Given the description of an element on the screen output the (x, y) to click on. 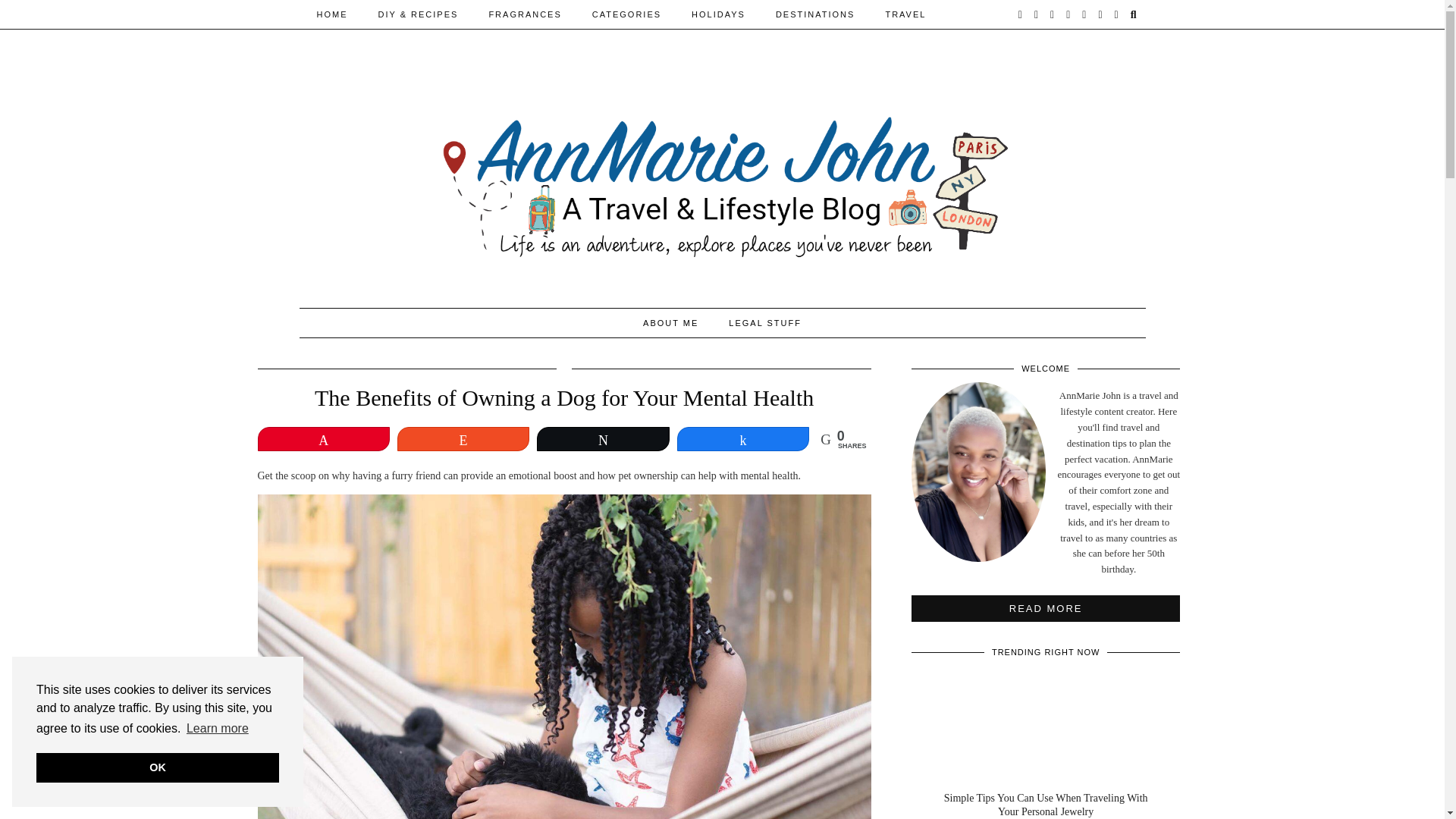
Learn more (217, 728)
Twitter (1020, 14)
OK (157, 767)
